Given the description of an element on the screen output the (x, y) to click on. 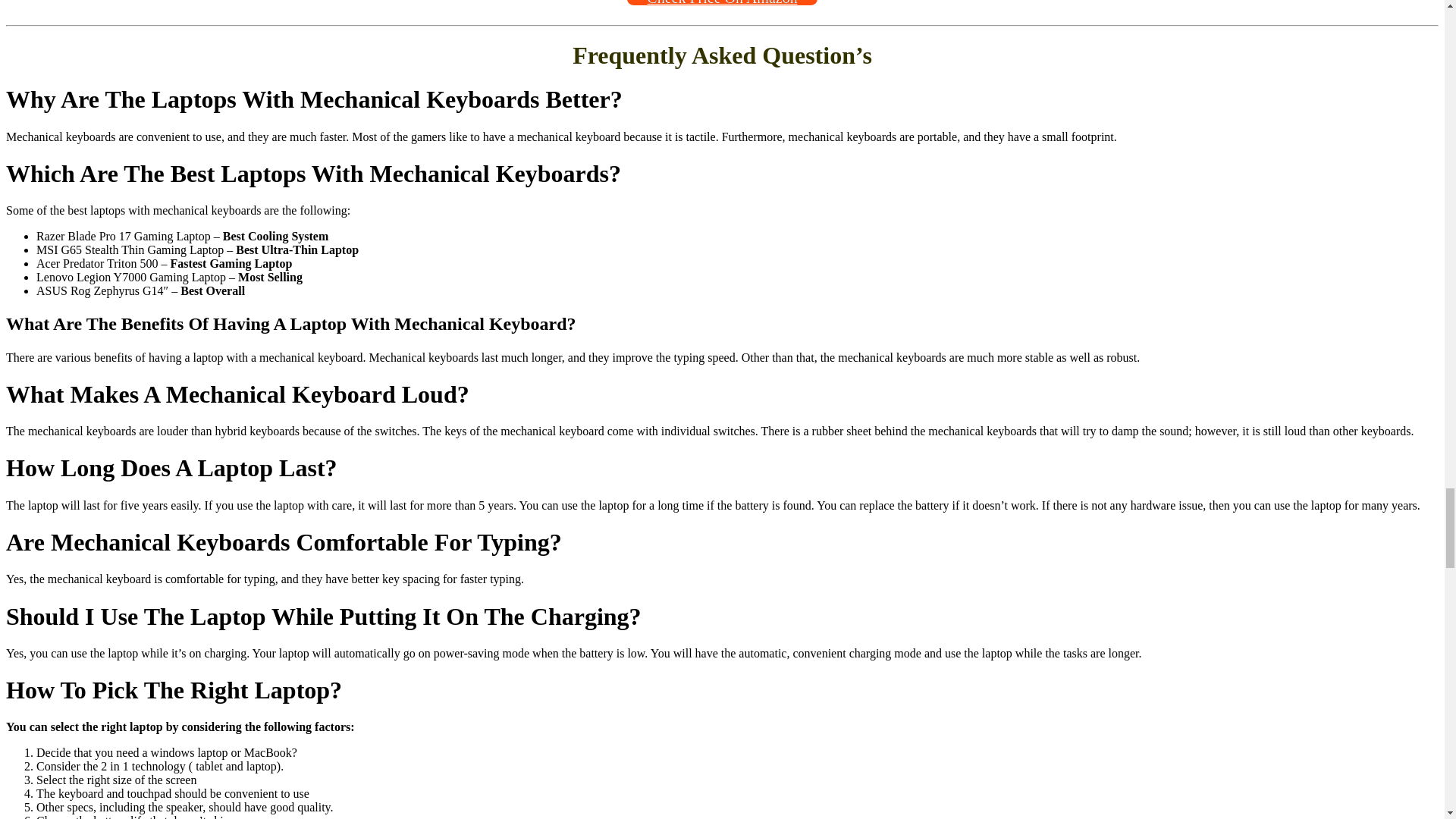
Check Price On Amazon (721, 2)
